Given the description of an element on the screen output the (x, y) to click on. 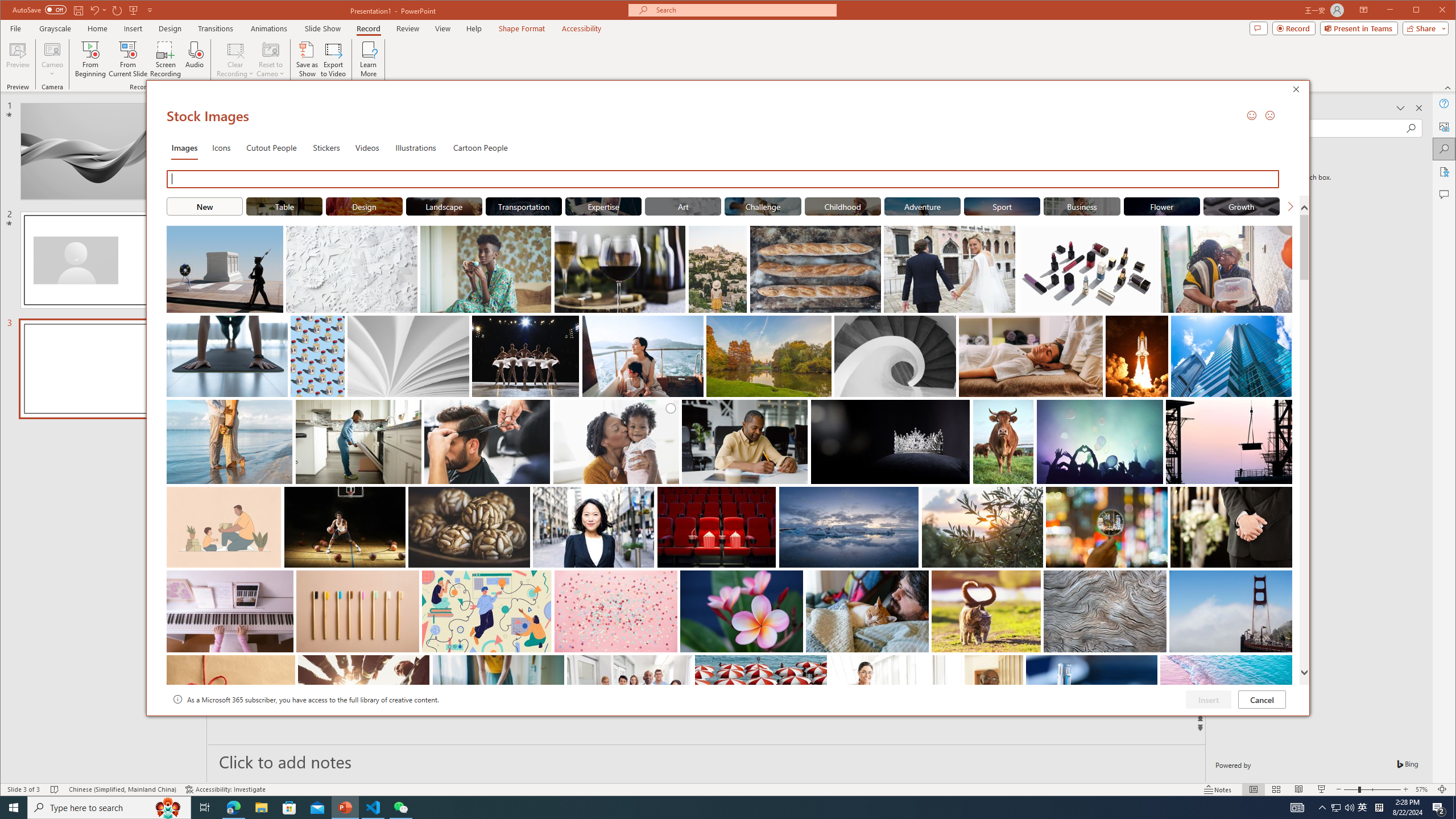
Thumbnail (1283, 663)
Send a Smile (1251, 115)
Reset to Cameo (269, 59)
